Given the description of an element on the screen output the (x, y) to click on. 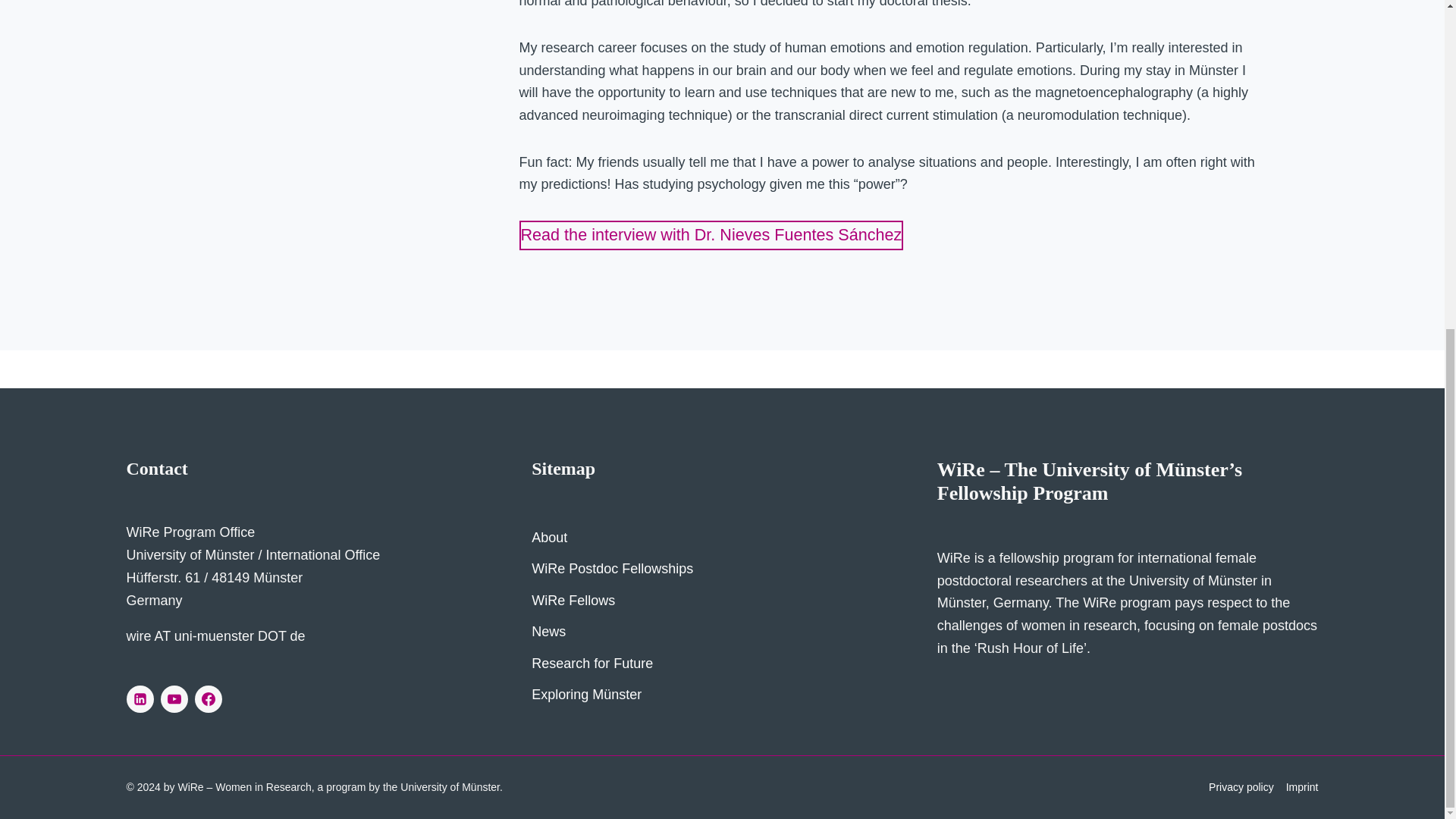
Privacy policy (1241, 787)
Research for Future (721, 662)
WiRe Fellows (721, 599)
Imprint (1302, 787)
WiRe Postdoc Fellowships (721, 568)
About (721, 536)
News (721, 631)
